Given the description of an element on the screen output the (x, y) to click on. 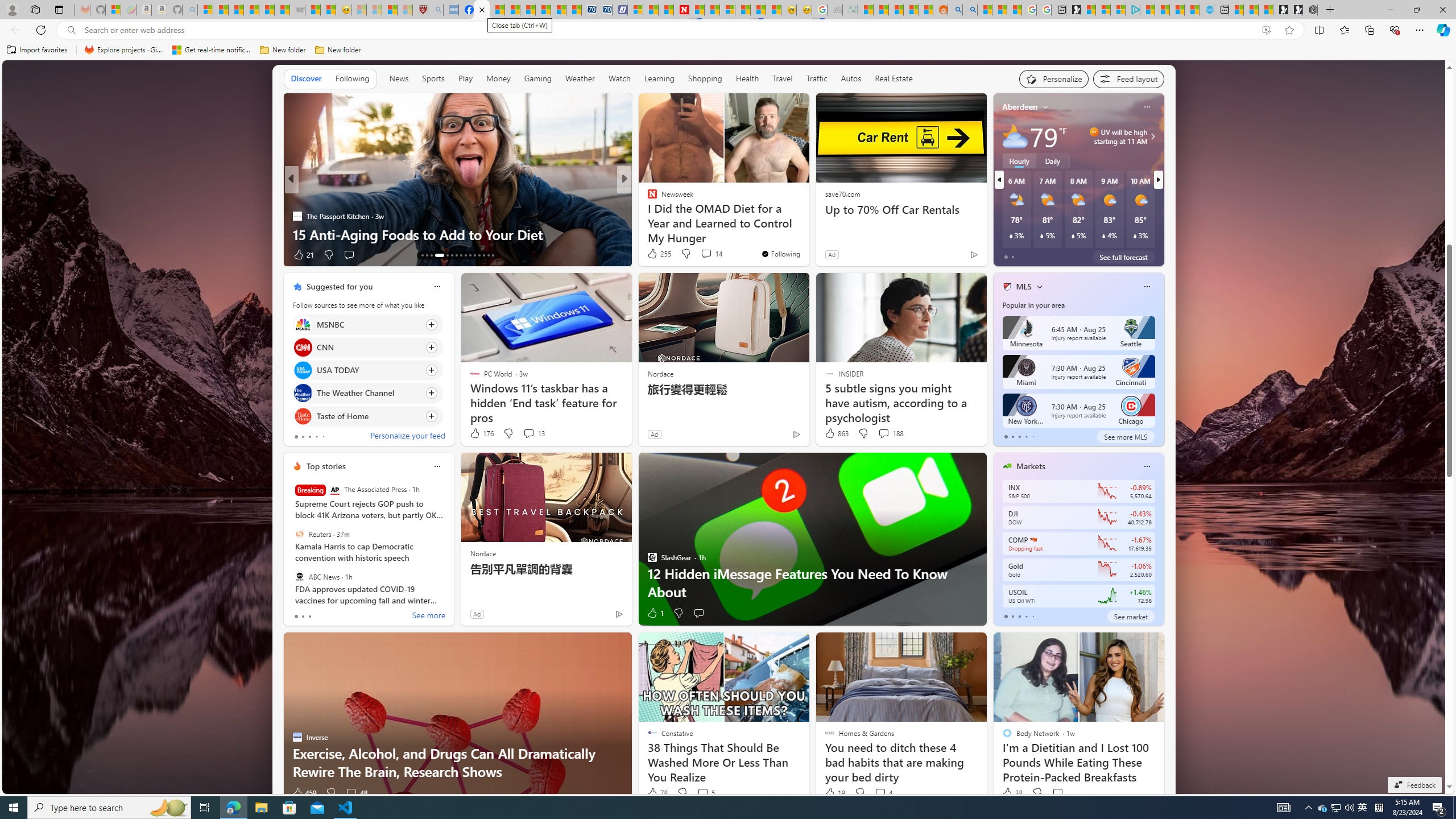
Click to follow source USA TODAY (367, 370)
Mostly cloudy (1014, 136)
View comments 4 Comment (882, 792)
View comments 14 Comment (710, 253)
The Associated Press (334, 490)
AutomationID: tab-76 (474, 255)
My location (1045, 106)
AutomationID: tab-78 (483, 255)
